Given the description of an element on the screen output the (x, y) to click on. 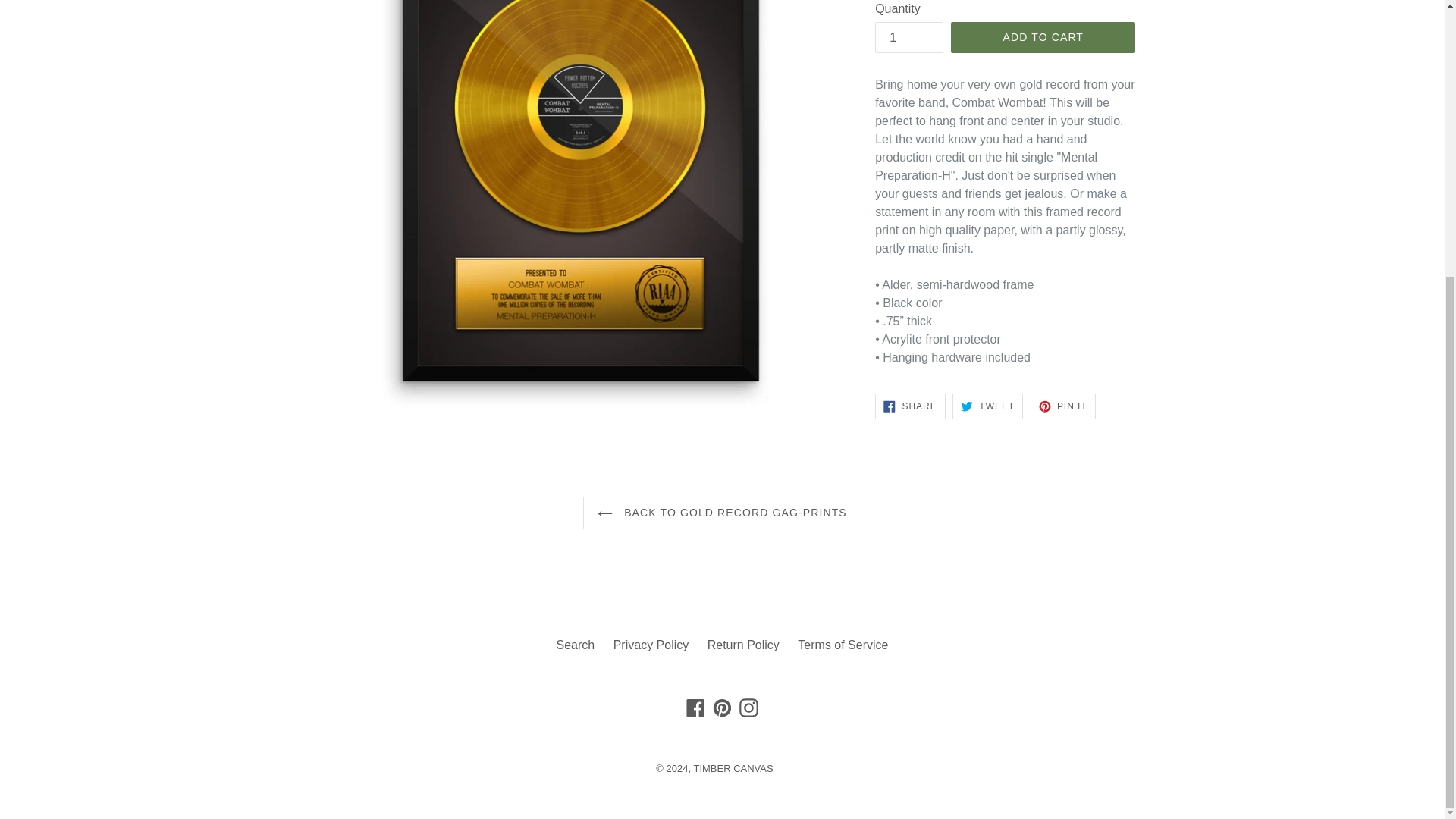
TIMBER CANVAS on Pinterest (1063, 406)
Privacy Policy (721, 707)
Share on Facebook (987, 406)
TIMBER CANVAS on Facebook (650, 644)
1 (909, 406)
BACK TO GOLD RECORD GAG-PRINTS (695, 707)
Search (909, 37)
Pin on Pinterest (722, 512)
ADD TO CART (575, 644)
Tweet on Twitter (1063, 406)
TIMBER CANVAS on Instagram (1042, 38)
